Given the description of an element on the screen output the (x, y) to click on. 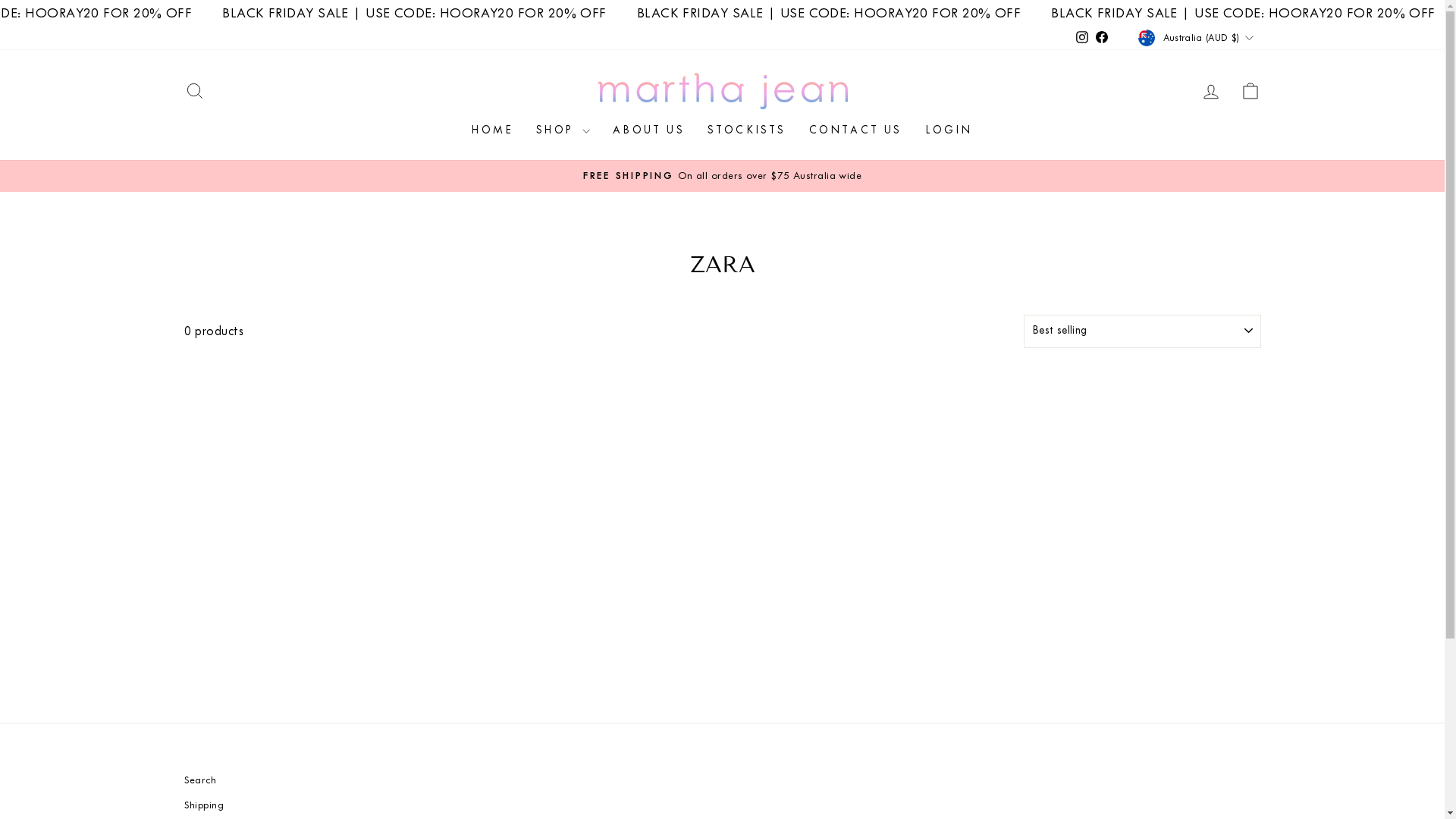
instagram
Instagram Element type: text (1082, 37)
STOCKISTS Element type: text (746, 130)
ABOUT US Element type: text (648, 130)
Search Element type: text (199, 779)
CONTACT US Element type: text (855, 130)
Shipping Element type: text (203, 804)
Facebook Element type: text (1101, 37)
ACCOUNT
LOG IN Element type: text (1210, 90)
ICON-BAG-MINIMAL
CART Element type: text (1249, 90)
Australia (AUD $) Element type: text (1197, 37)
HOME Element type: text (492, 130)
LOGIN Element type: text (948, 130)
ICON-SEARCH
SEARCH Element type: text (193, 90)
